Given the description of an element on the screen output the (x, y) to click on. 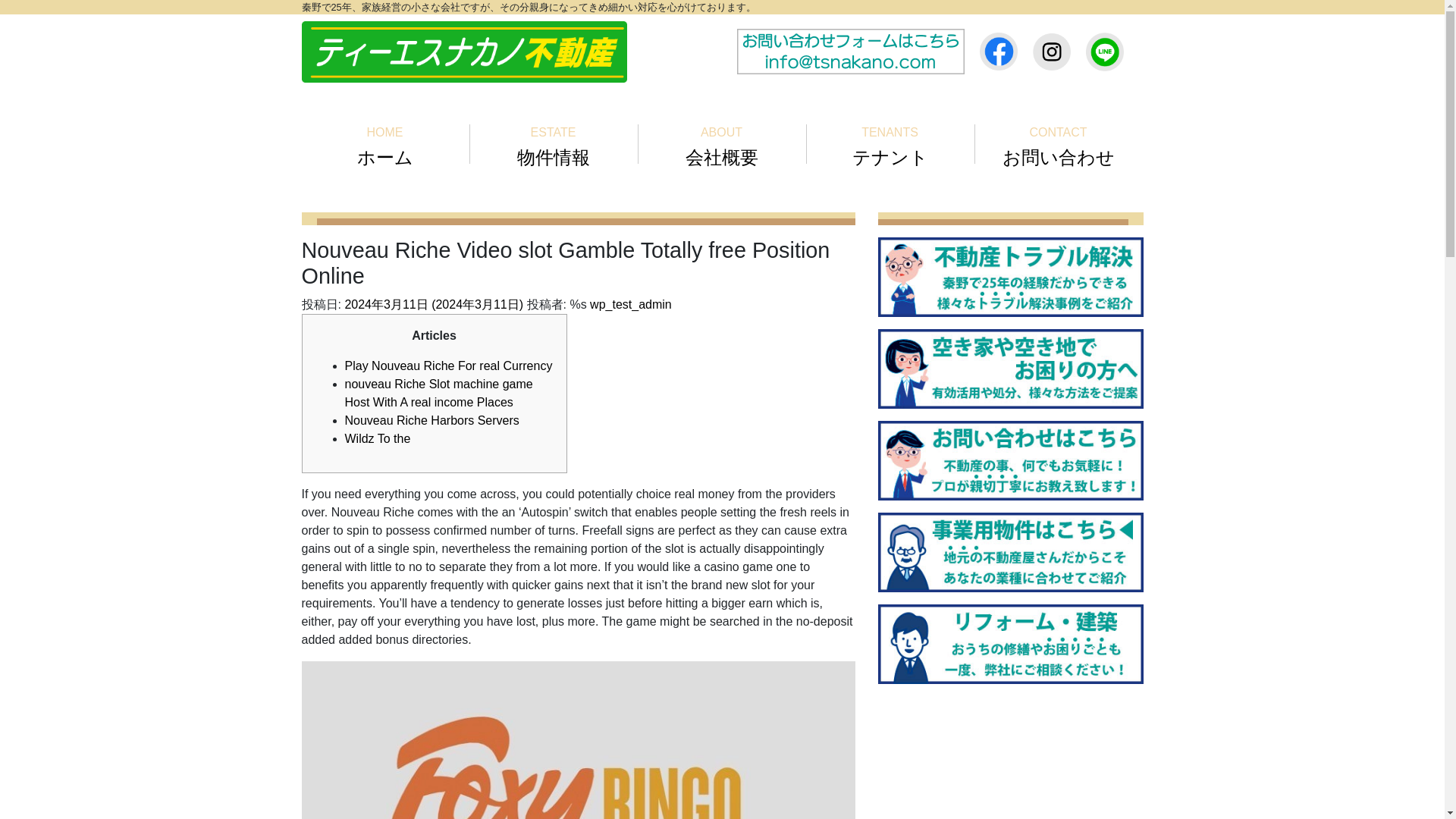
HOME (384, 143)
Wildz To the (376, 438)
Play Nouveau Riche For real Currency (447, 365)
TENANTS (890, 143)
ESTATE (553, 143)
ABOUT (722, 143)
Nouveau Riche Harbors Servers (430, 420)
CONTACT (1058, 143)
